Given the description of an element on the screen output the (x, y) to click on. 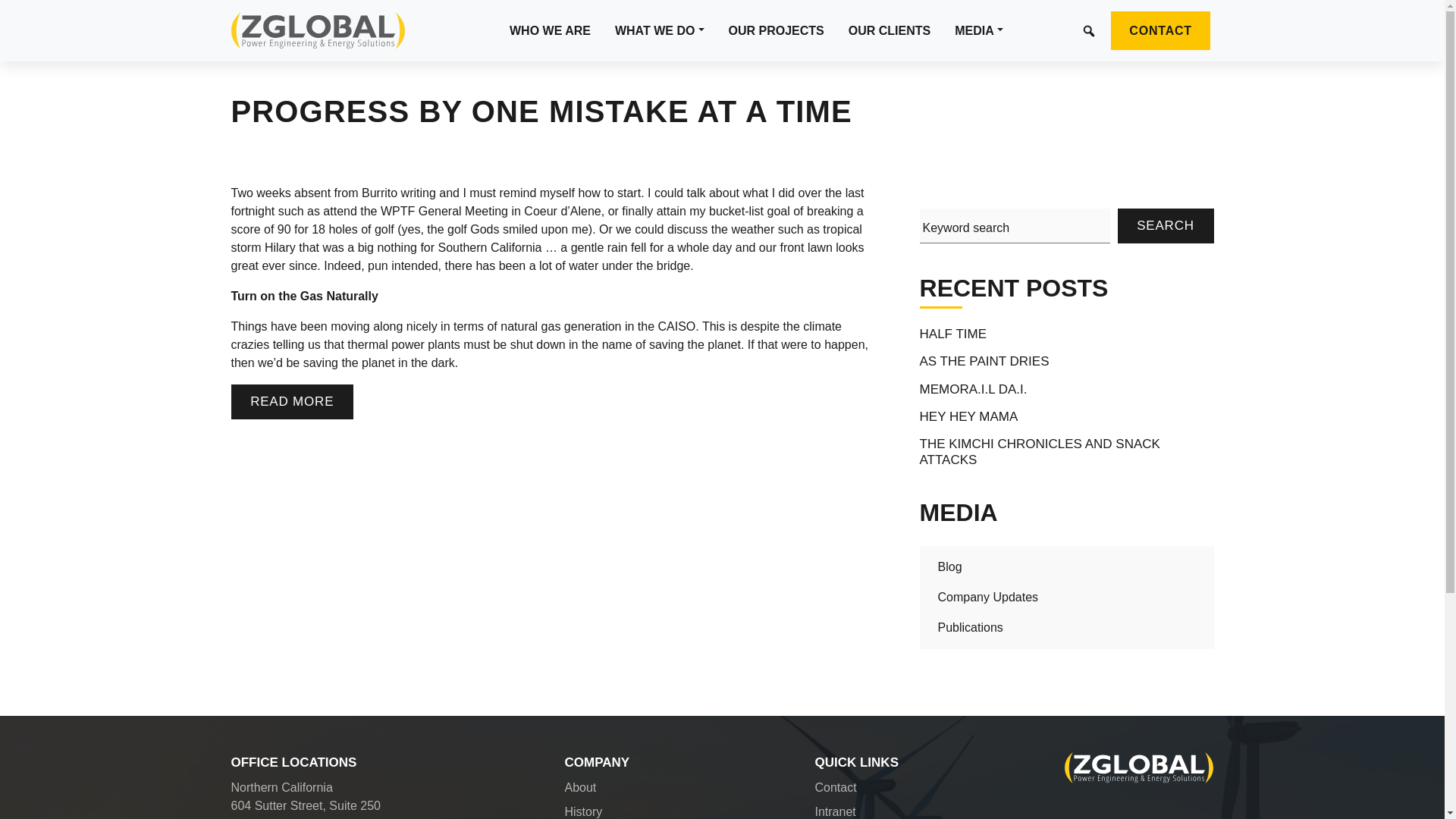
CONTACT (1164, 32)
Intranet (834, 811)
THE KIMCHI CHRONICLES AND SNACK ATTACKS (1067, 451)
HALF TIME (953, 334)
AS THE PAINT DRIES (984, 361)
History (583, 811)
WHAT WE DO (659, 30)
Company Updates (988, 596)
Contact (834, 787)
MEMORA.I.L DA.I. (973, 389)
SEARCH (1166, 225)
About (579, 787)
WHO WE ARE (549, 30)
MEDIA (978, 30)
READ MORE (291, 401)
